Given the description of an element on the screen output the (x, y) to click on. 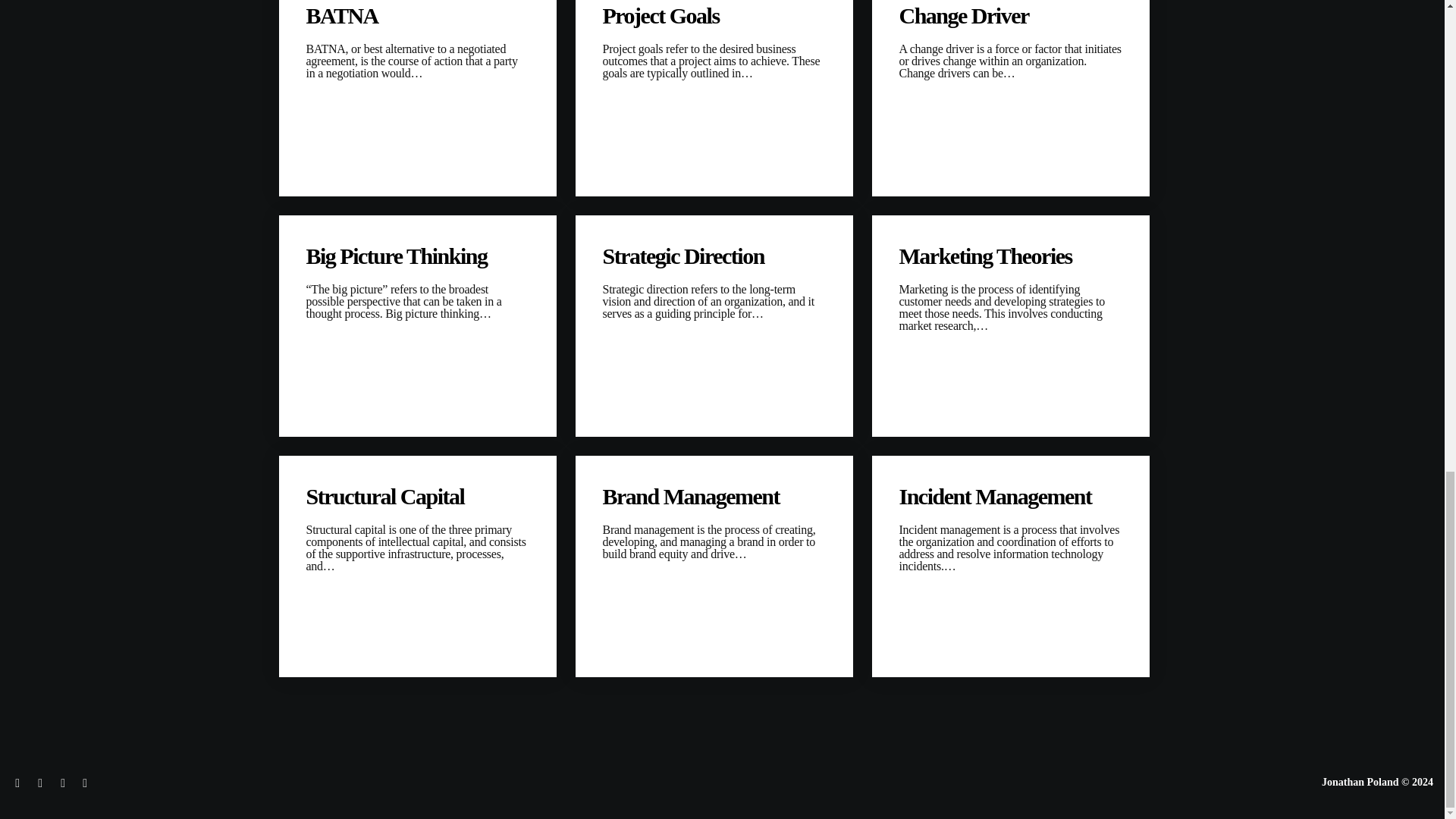
Marketing Theories (1010, 256)
BATNA (417, 15)
Project Goals (713, 15)
Strategic Direction (713, 256)
Incident Management (1010, 496)
Brand Management (713, 496)
Change Driver (1010, 15)
Structural Capital (417, 496)
Big Picture Thinking (417, 256)
